Given the description of an element on the screen output the (x, y) to click on. 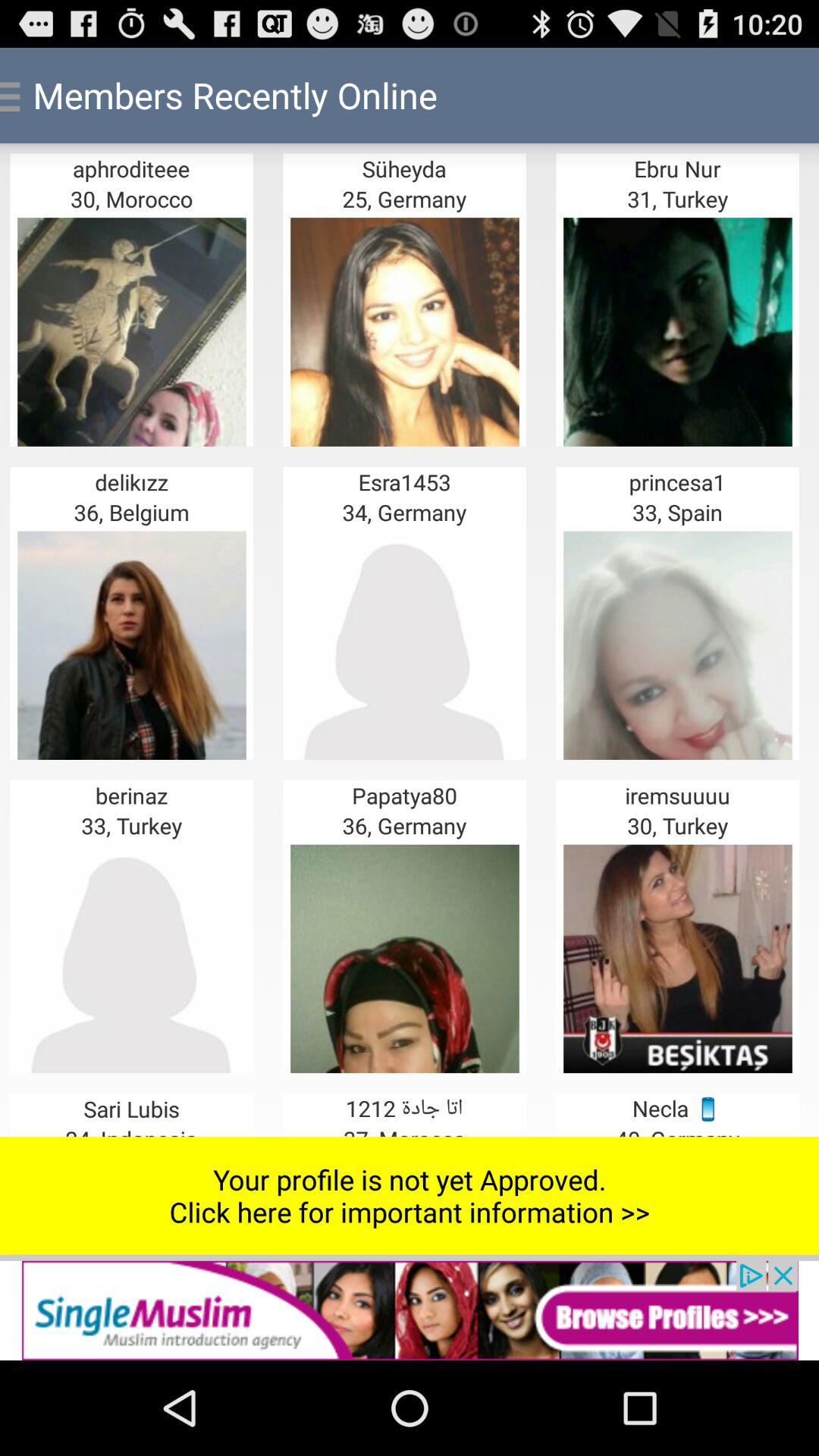
close advertisement (409, 1310)
